Given the description of an element on the screen output the (x, y) to click on. 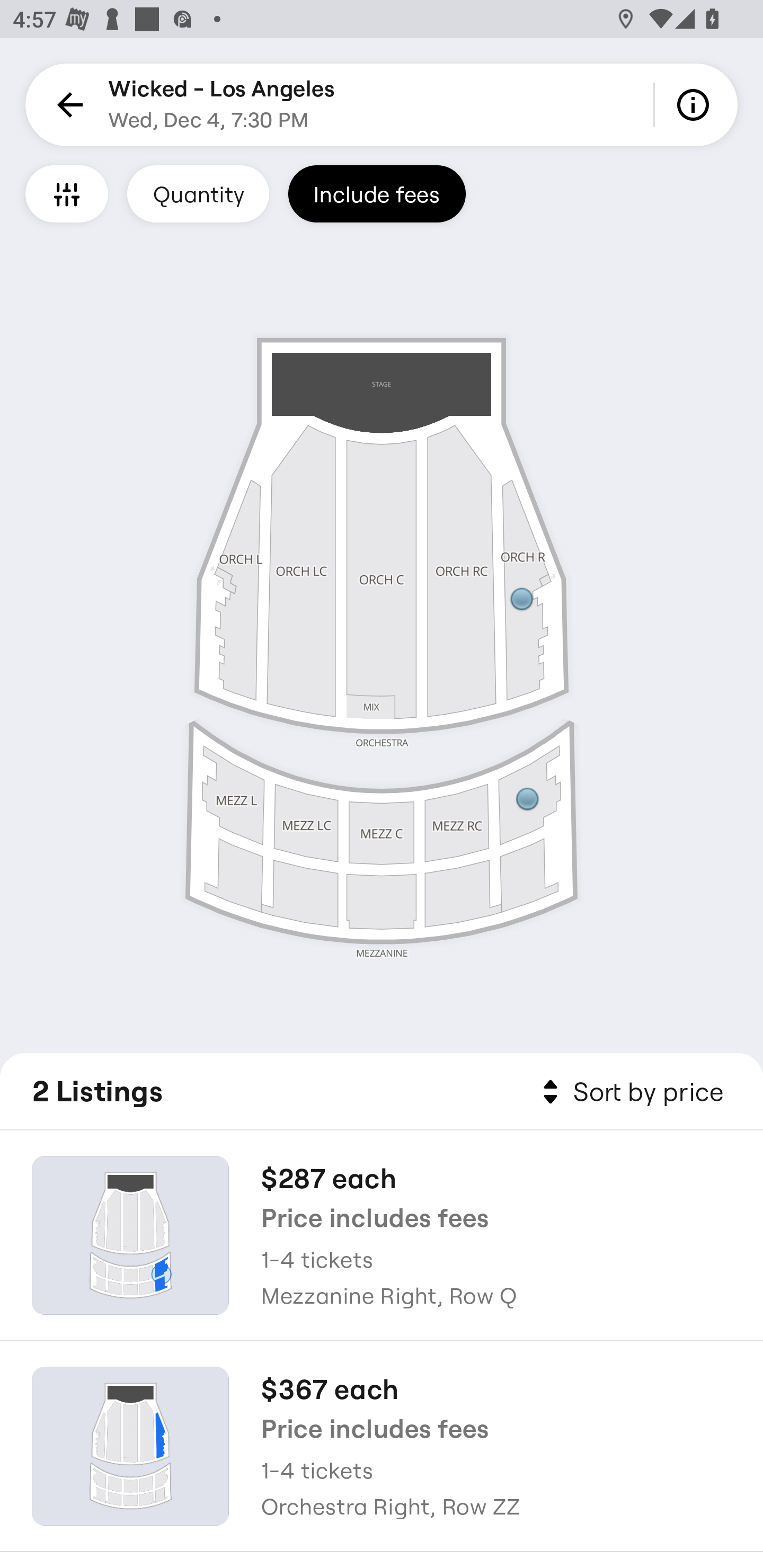
Back Wicked - Los Angeles Wed, Dec 4, 7:30 PM Info (381, 104)
Back (66, 104)
Wicked - Los Angeles Wed, Dec 4, 7:30 PM (221, 104)
Info (695, 104)
Filters and Accessible Seating (66, 193)
Quantity (198, 193)
Include fees (376, 193)
Sort by price (629, 1091)
